Given the description of an element on the screen output the (x, y) to click on. 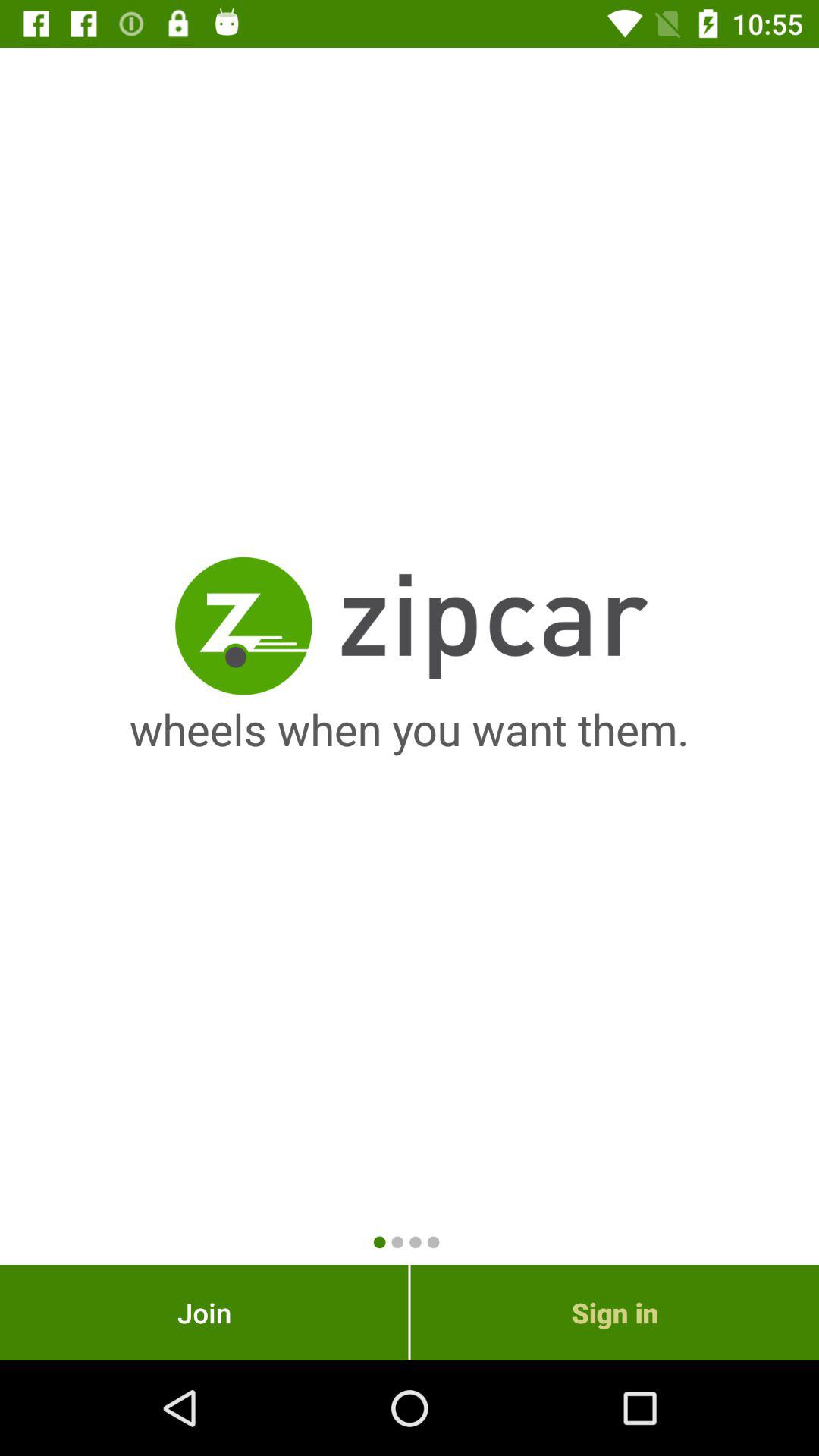
select the item next to sign in item (204, 1312)
